Given the description of an element on the screen output the (x, y) to click on. 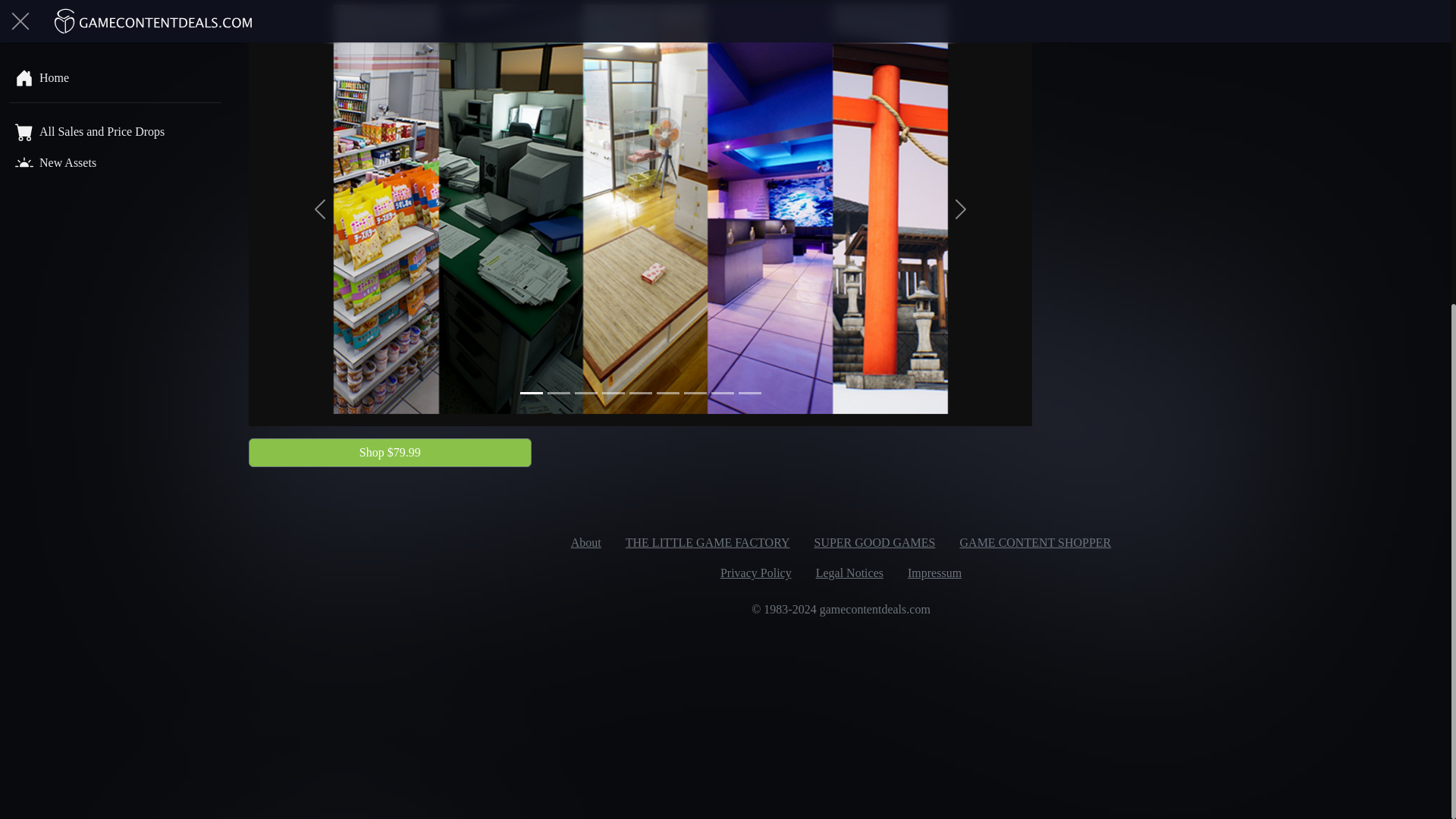
THE LITTLE GAME FACTORY (707, 542)
GAME CONTENT SHOPPER (1035, 542)
SUPER GOOD GAMES (874, 542)
Legal Notices (849, 572)
About (585, 542)
Privacy Policy (755, 572)
